Given the description of an element on the screen output the (x, y) to click on. 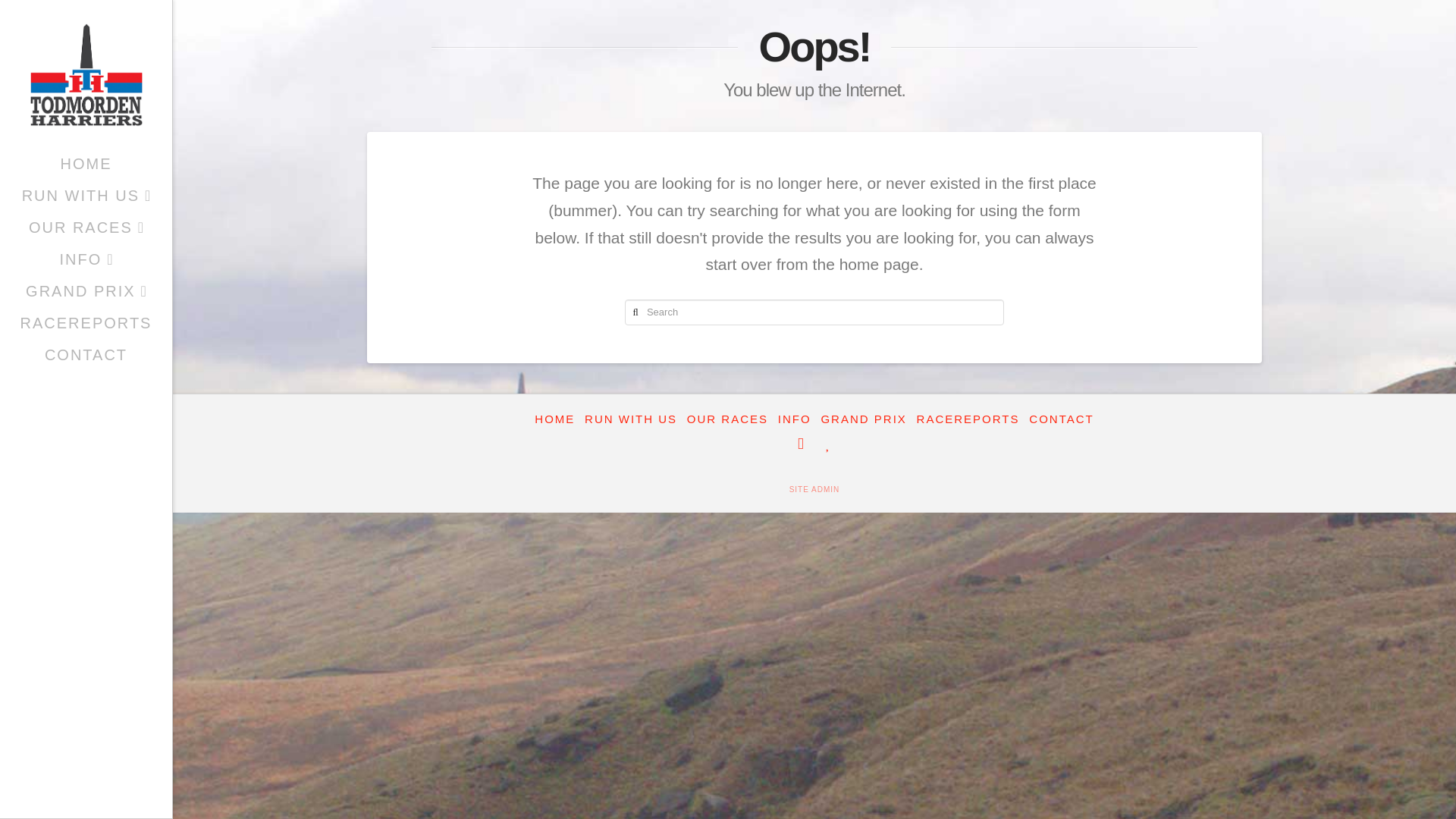
GRAND PRIX (863, 419)
GRAND PRIX (85, 291)
Club Championship (863, 419)
HOME (85, 163)
RACEREPORTS (968, 419)
Club Championship (85, 291)
INFO (793, 419)
Essential Information (85, 259)
HOME (554, 419)
CONTACT (85, 354)
RACEREPORTS (85, 322)
RUN WITH US (85, 195)
OUR RACES (85, 227)
Essential Information (793, 419)
